Given the description of an element on the screen output the (x, y) to click on. 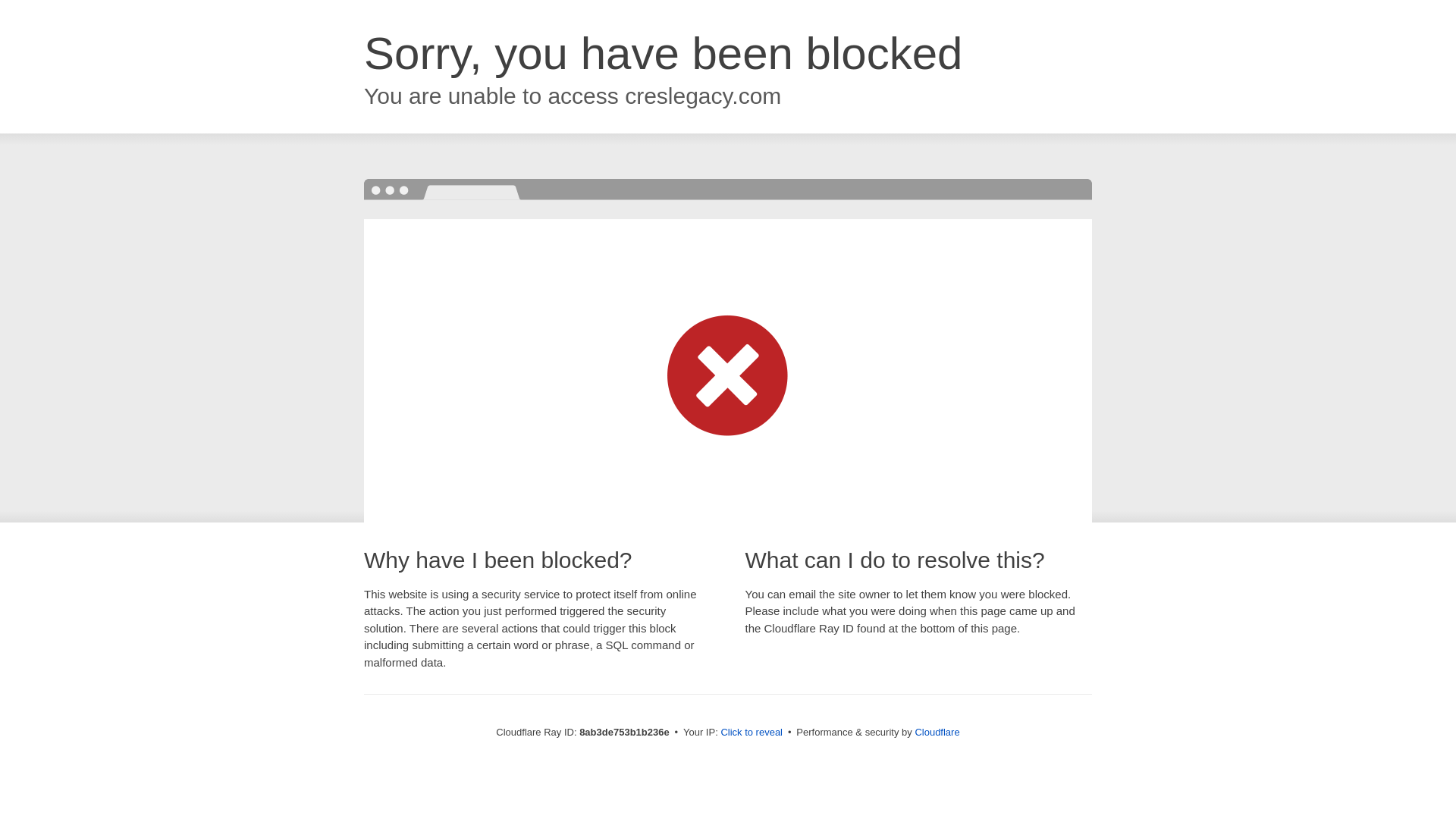
Click to reveal (751, 732)
Cloudflare (936, 731)
